Given the description of an element on the screen output the (x, y) to click on. 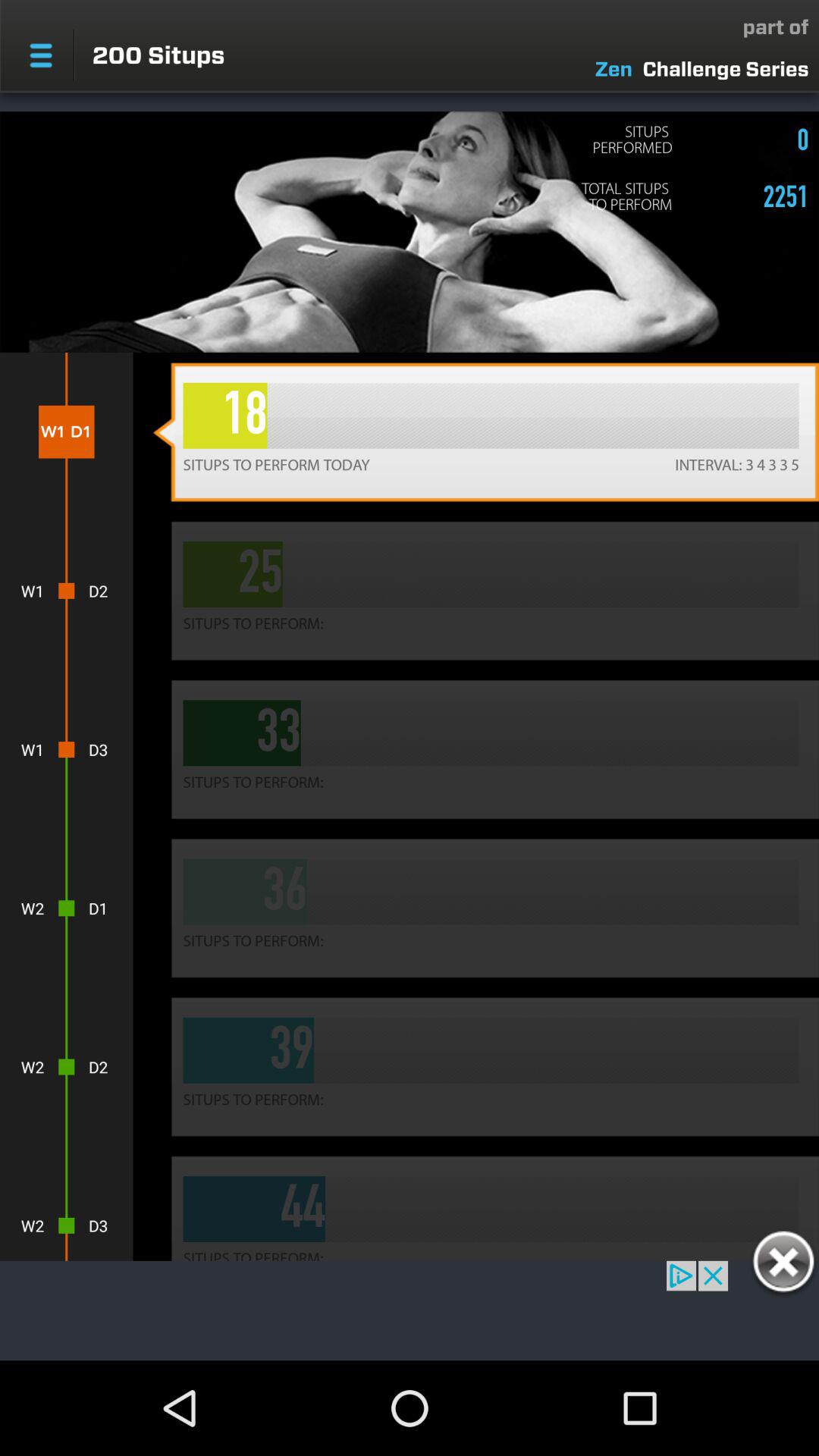
options menu (40, 55)
